Given the description of an element on the screen output the (x, y) to click on. 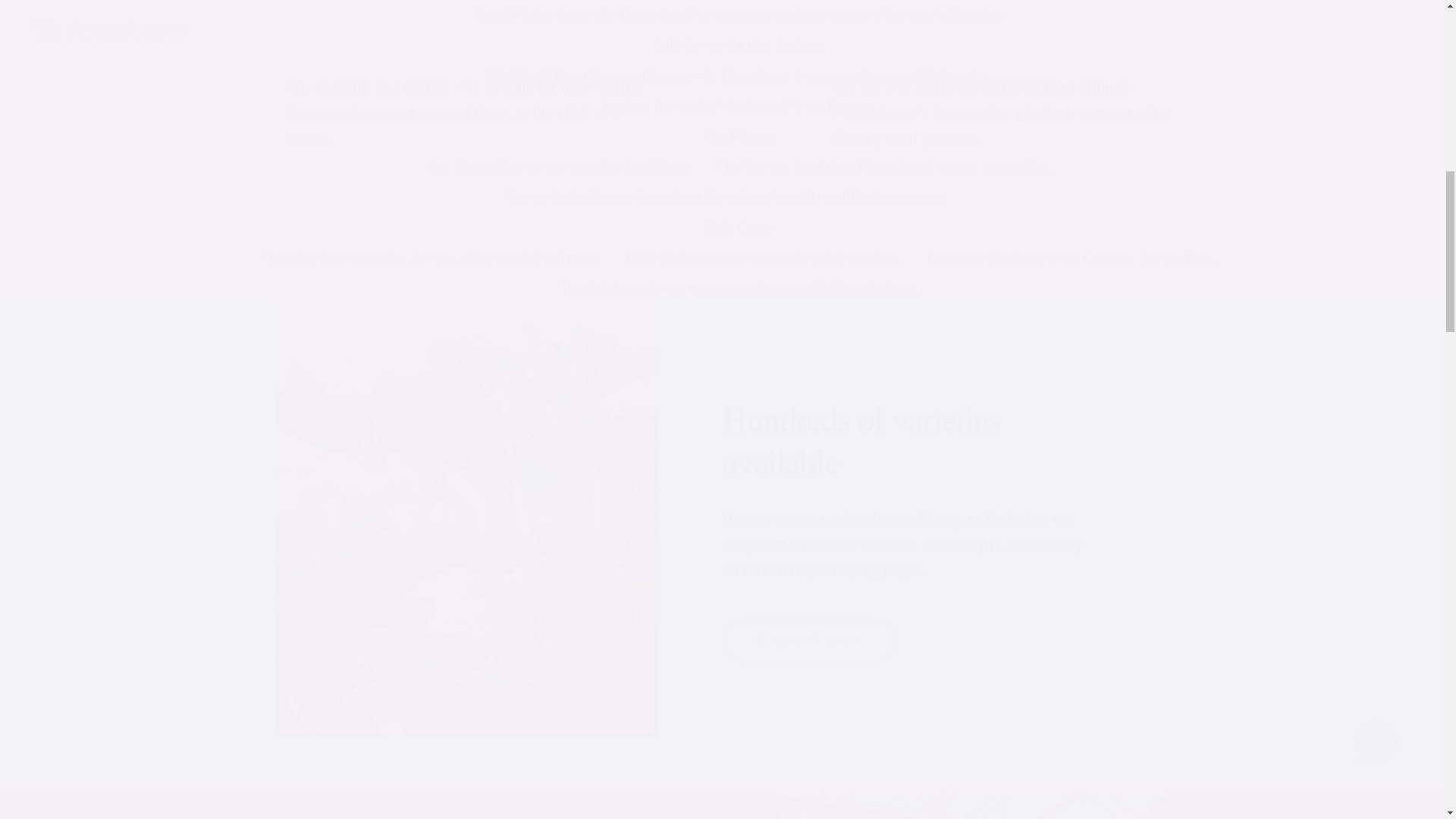
Browse Flowers  (809, 640)
Start bidding (919, 203)
Buy flowers now (373, 203)
